Given the description of an element on the screen output the (x, y) to click on. 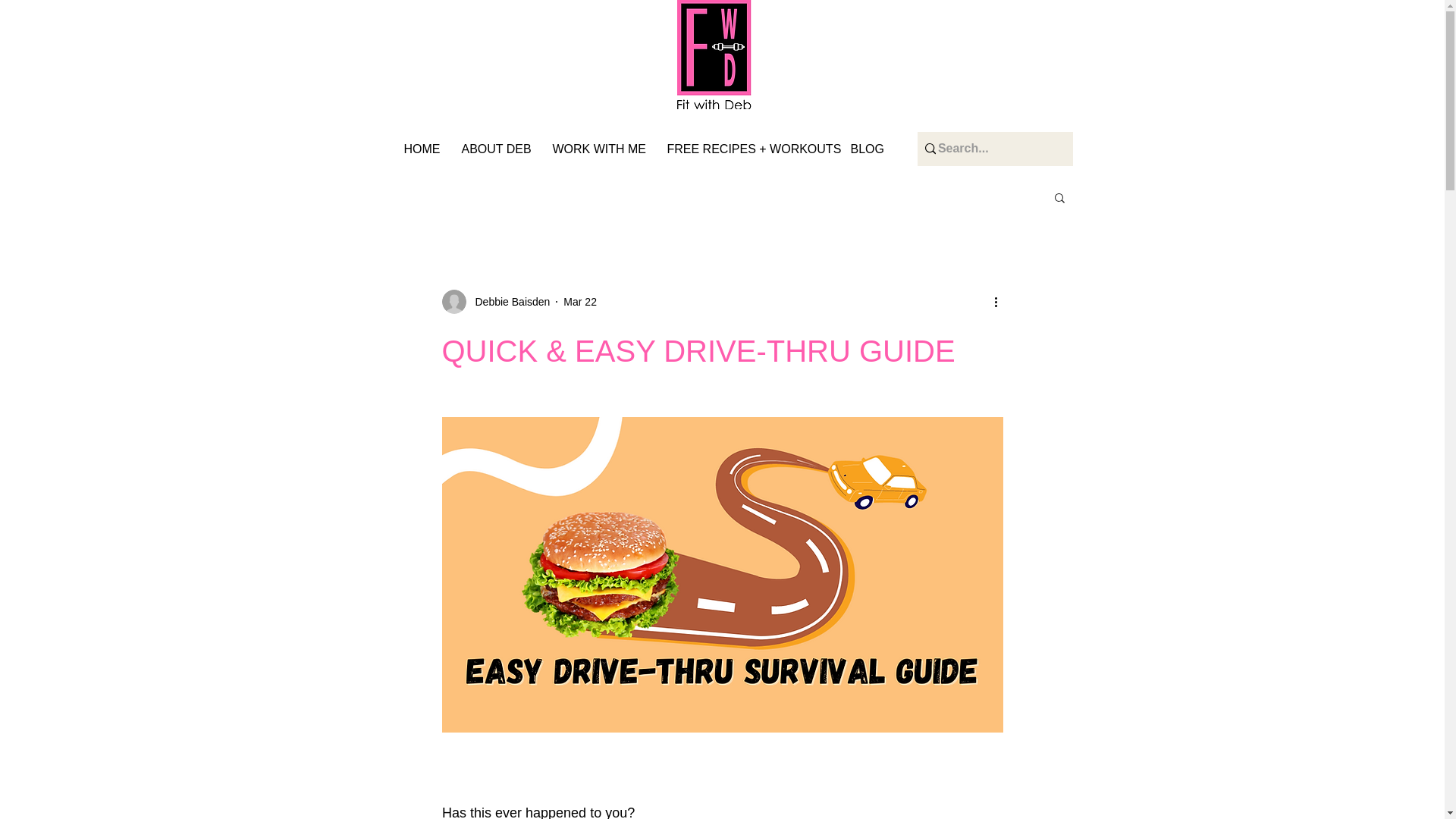
ABOUT DEB (498, 148)
HOME (424, 148)
BLOG (869, 148)
Mar 22 (579, 301)
Debbie Baisden (507, 302)
